Given the description of an element on the screen output the (x, y) to click on. 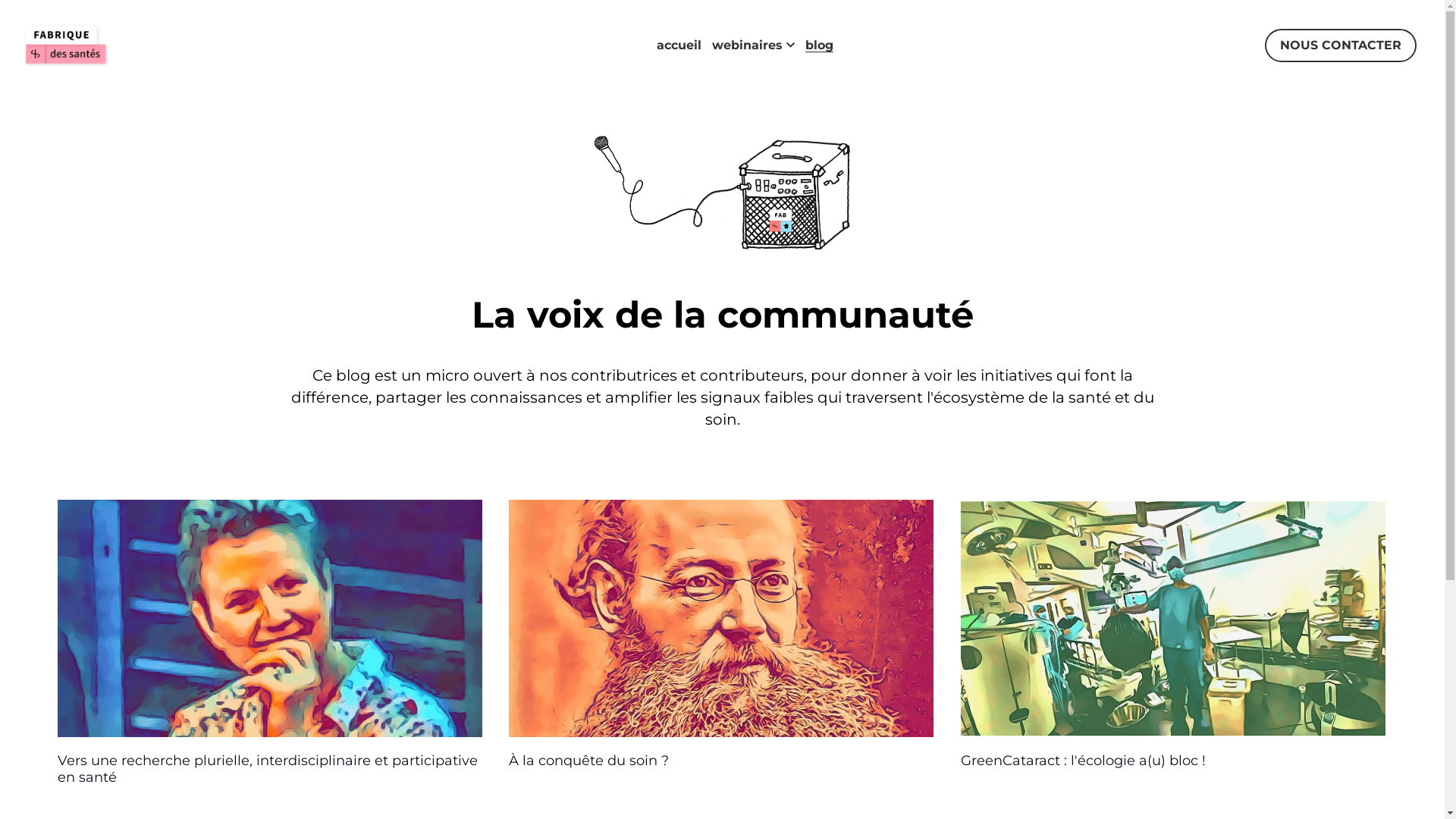
blog Element type: text (817, 45)
accueil Element type: text (680, 44)
NOUS CONTACTER Element type: text (1340, 45)
